Given the description of an element on the screen output the (x, y) to click on. 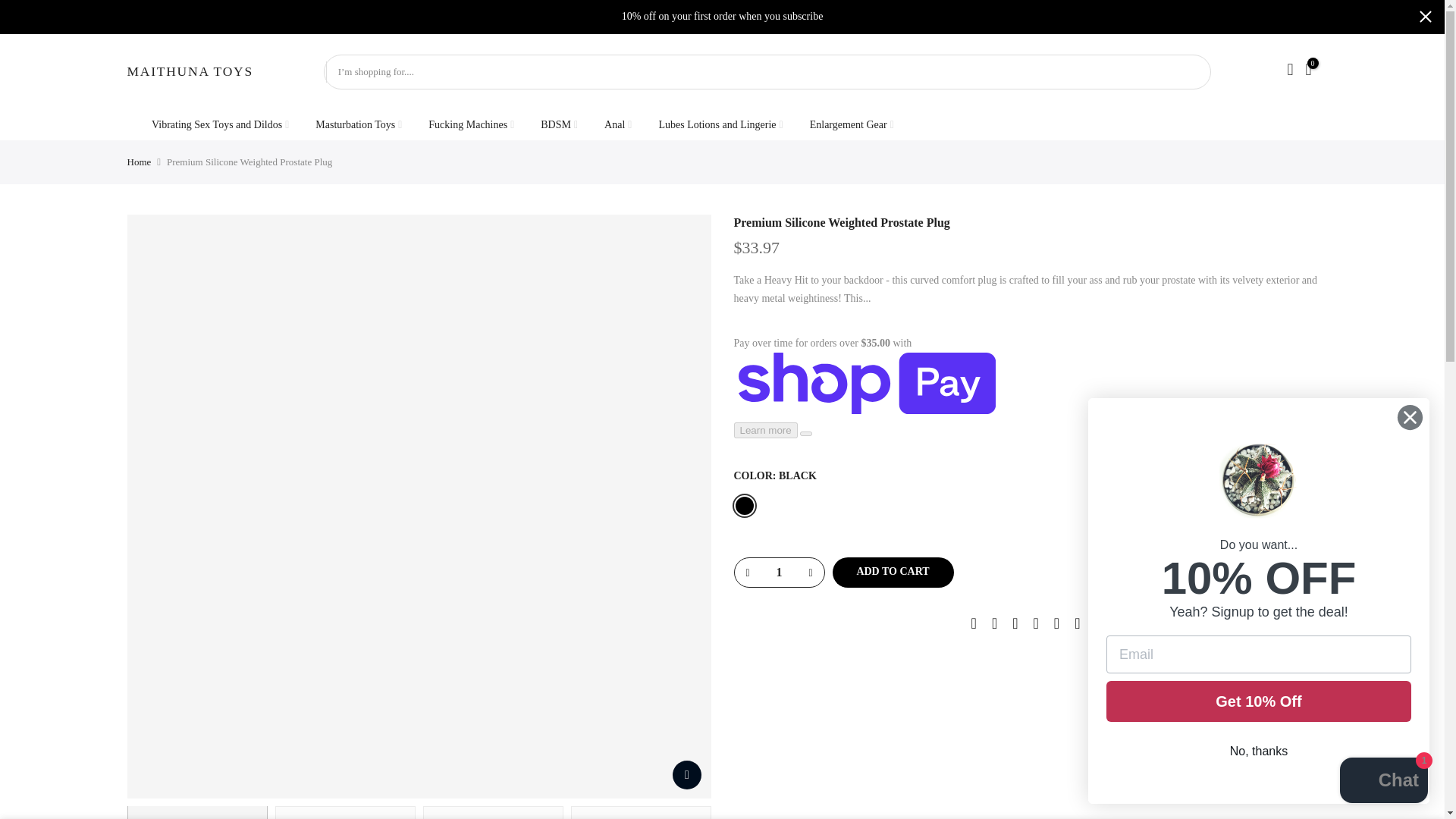
Fucking Machines (470, 123)
1 (778, 572)
Masturbation Toys (358, 123)
MAITHUNA TOYS (190, 71)
Vibrating Sex Toys and Dildos (219, 123)
Shopify online store chat (1383, 781)
Close dialog 1 (1409, 417)
0 (1307, 71)
